Given the description of an element on the screen output the (x, y) to click on. 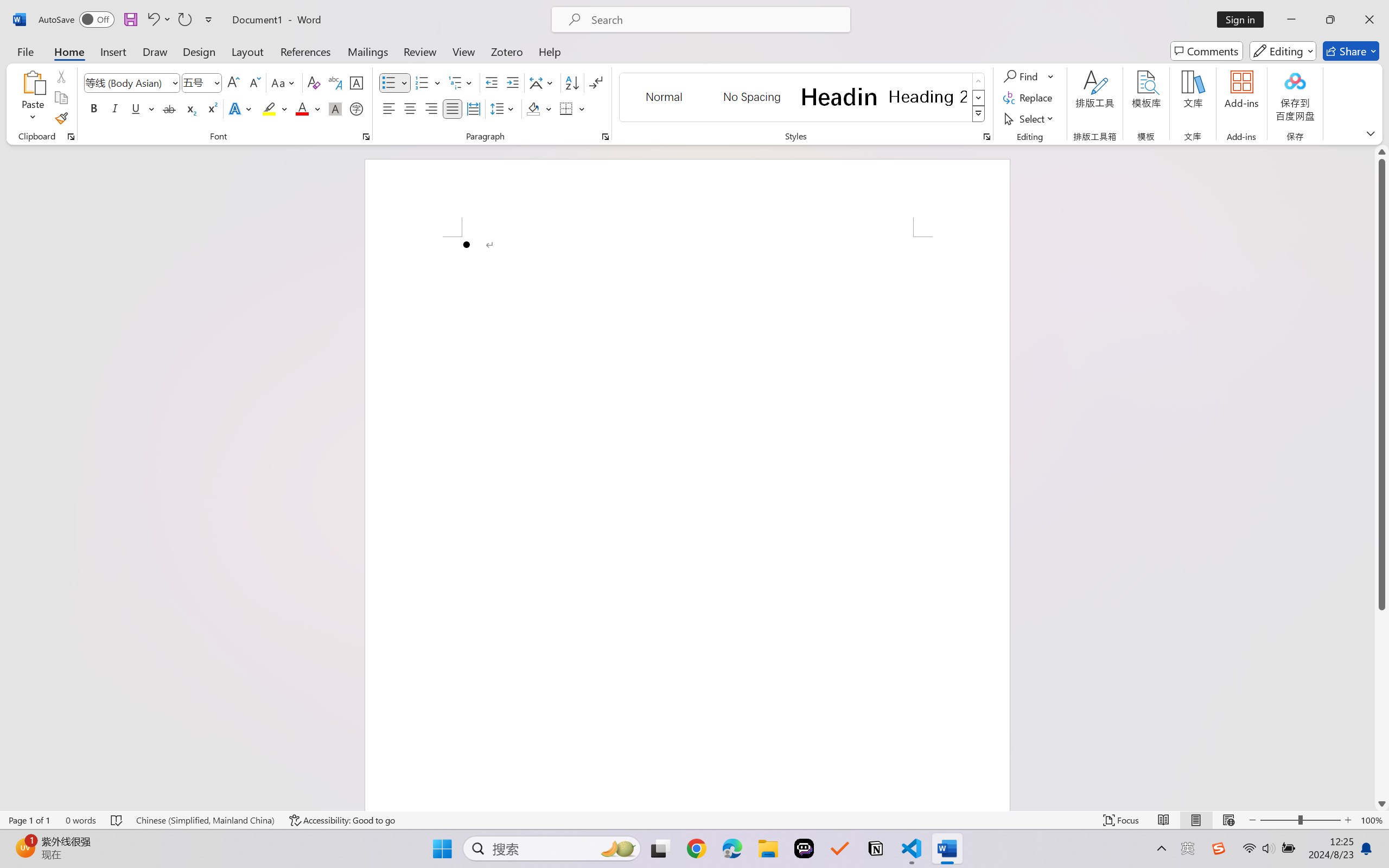
Zoom 100% (1372, 819)
Undo Bullet Default (152, 19)
